Given the description of an element on the screen output the (x, y) to click on. 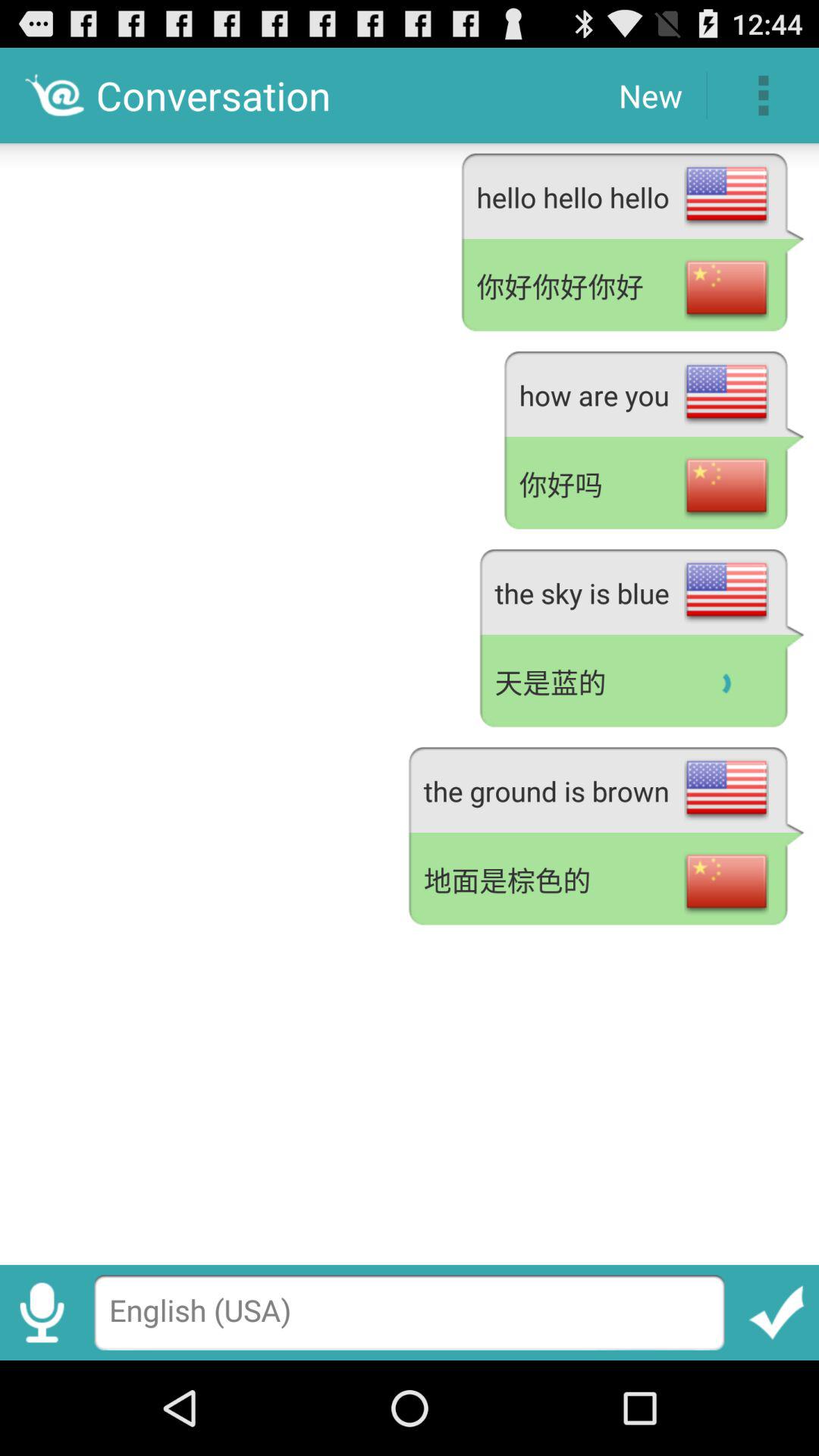
search engie window (409, 1312)
